Given the description of an element on the screen output the (x, y) to click on. 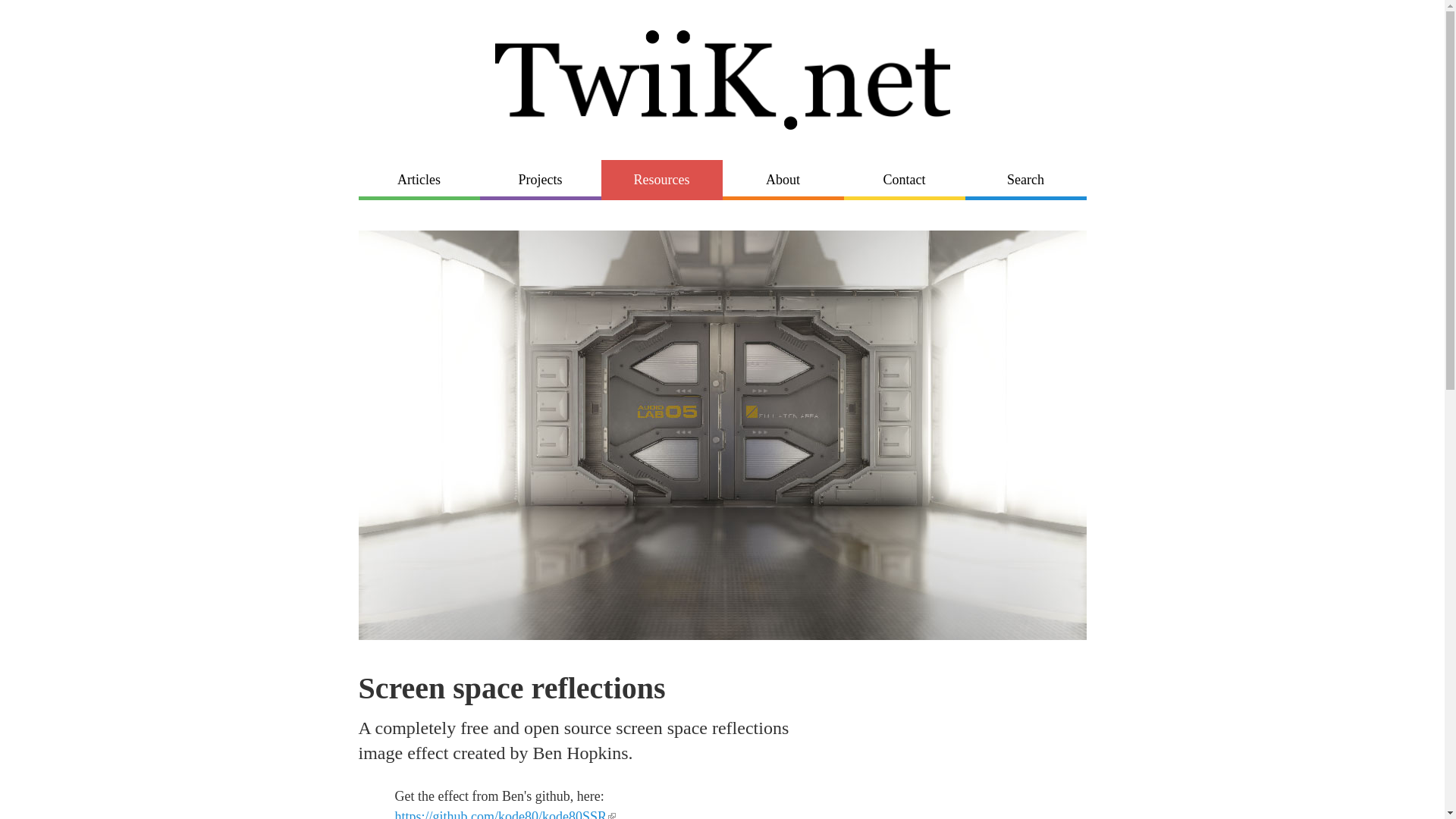
About (782, 179)
Articles (418, 179)
Projects (539, 179)
TwiiK.net (722, 79)
Resources (660, 179)
Search (1024, 179)
Contact (903, 179)
